Given the description of an element on the screen output the (x, y) to click on. 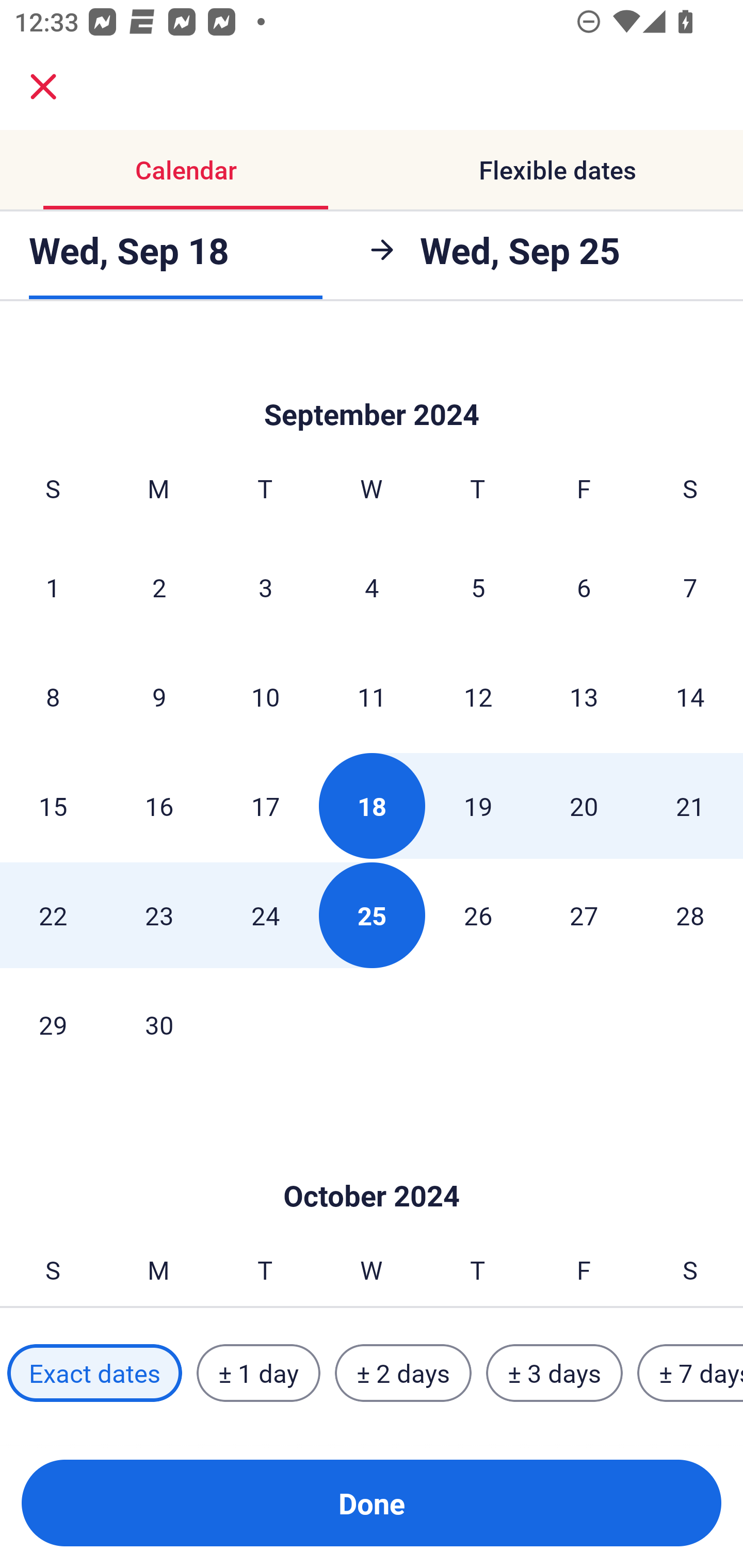
close. (43, 86)
Flexible dates (557, 170)
Skip to Done (371, 383)
1 Sunday, September 1, 2024 (53, 586)
2 Monday, September 2, 2024 (159, 586)
3 Tuesday, September 3, 2024 (265, 586)
4 Wednesday, September 4, 2024 (371, 586)
5 Thursday, September 5, 2024 (477, 586)
6 Friday, September 6, 2024 (584, 586)
7 Saturday, September 7, 2024 (690, 586)
8 Sunday, September 8, 2024 (53, 696)
9 Monday, September 9, 2024 (159, 696)
10 Tuesday, September 10, 2024 (265, 696)
11 Wednesday, September 11, 2024 (371, 696)
12 Thursday, September 12, 2024 (477, 696)
13 Friday, September 13, 2024 (584, 696)
14 Saturday, September 14, 2024 (690, 696)
15 Sunday, September 15, 2024 (53, 805)
16 Monday, September 16, 2024 (159, 805)
17 Tuesday, September 17, 2024 (265, 805)
26 Thursday, September 26, 2024 (477, 914)
27 Friday, September 27, 2024 (584, 914)
28 Saturday, September 28, 2024 (690, 914)
29 Sunday, September 29, 2024 (53, 1024)
30 Monday, September 30, 2024 (159, 1024)
Skip to Done (371, 1164)
Exact dates (94, 1372)
± 1 day (258, 1372)
± 2 days (403, 1372)
± 3 days (553, 1372)
± 7 days (690, 1372)
Done (371, 1502)
